Given the description of an element on the screen output the (x, y) to click on. 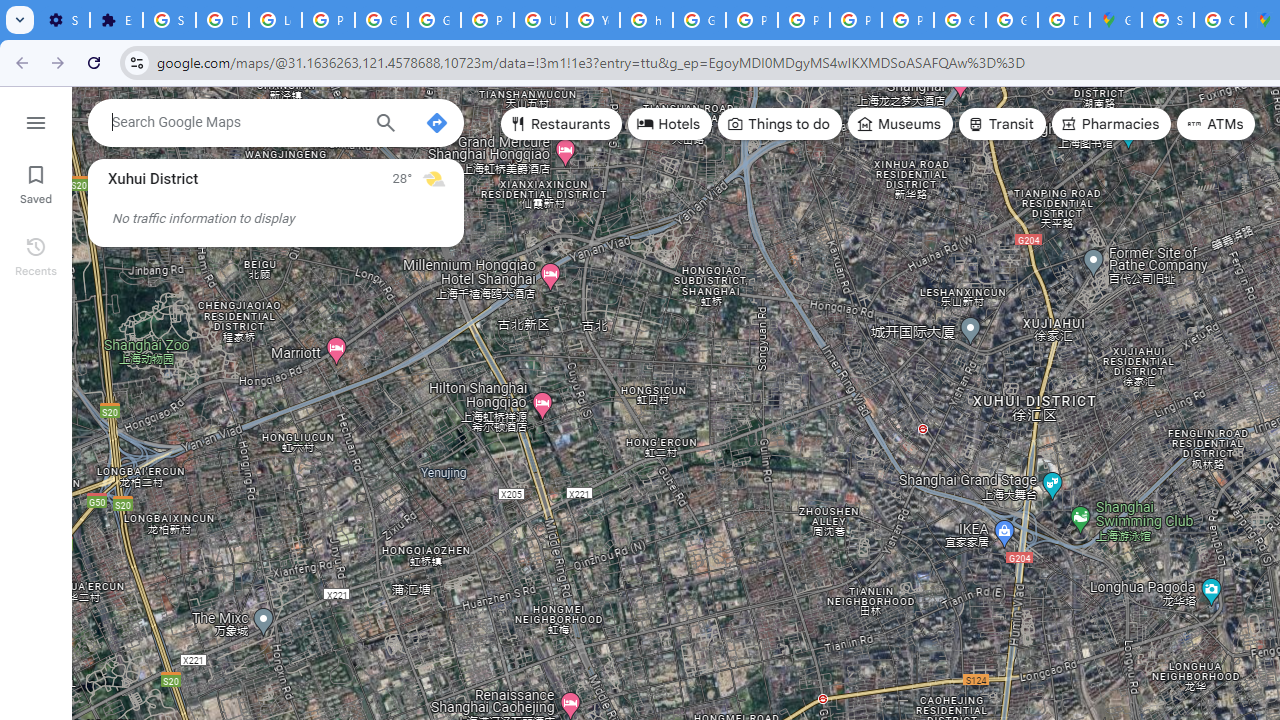
Pharmacies (1111, 124)
Learn how to find your photos - Google Photos Help (275, 20)
Museums (900, 124)
Restaurants (561, 124)
Privacy Help Center - Policies Help (751, 20)
ATMs (1216, 124)
